Given the description of an element on the screen output the (x, y) to click on. 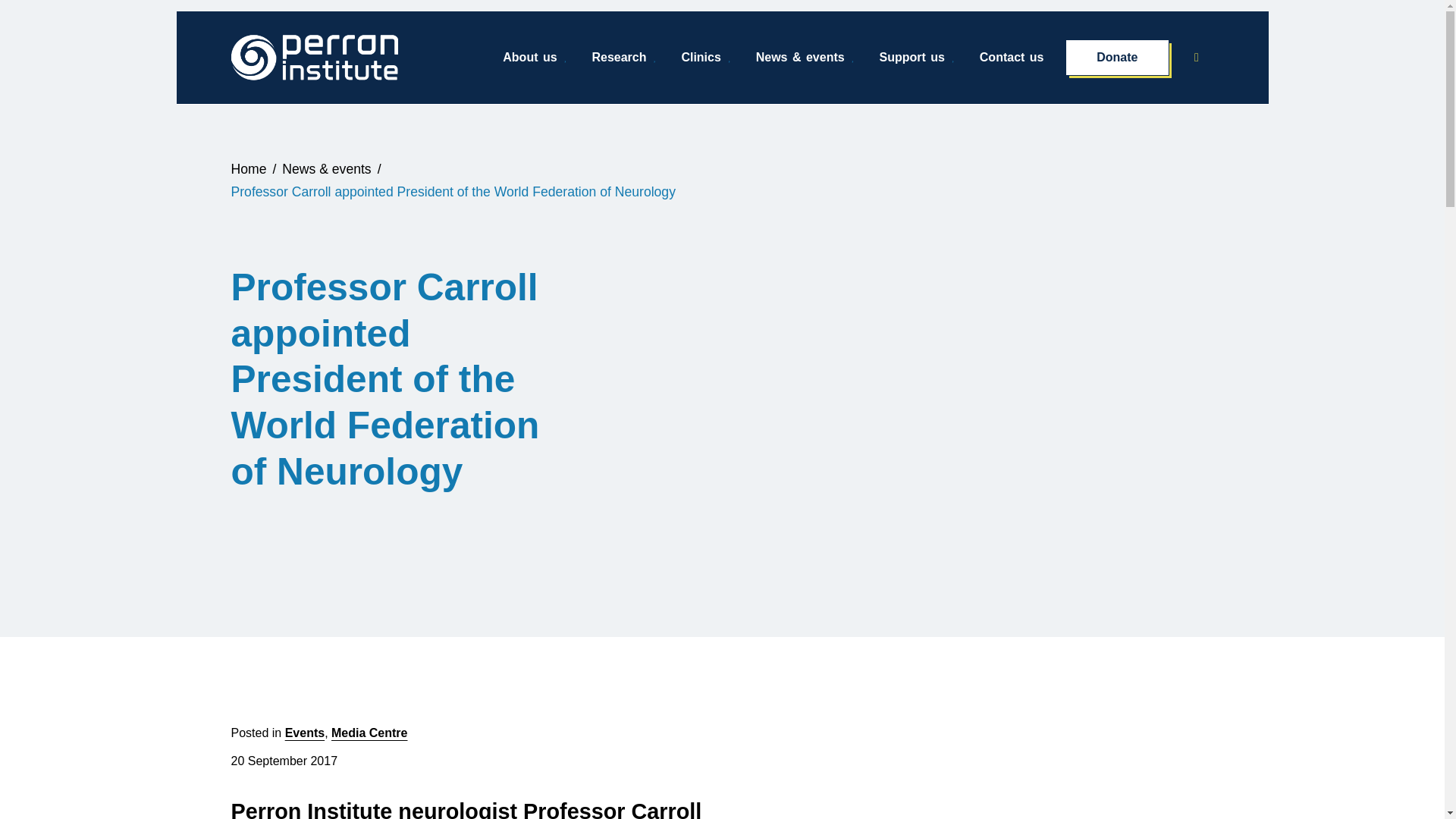
Search (1201, 57)
Support us (917, 57)
About us (534, 57)
Contact us (1012, 57)
Research (623, 57)
Donate (1117, 57)
